Given the description of an element on the screen output the (x, y) to click on. 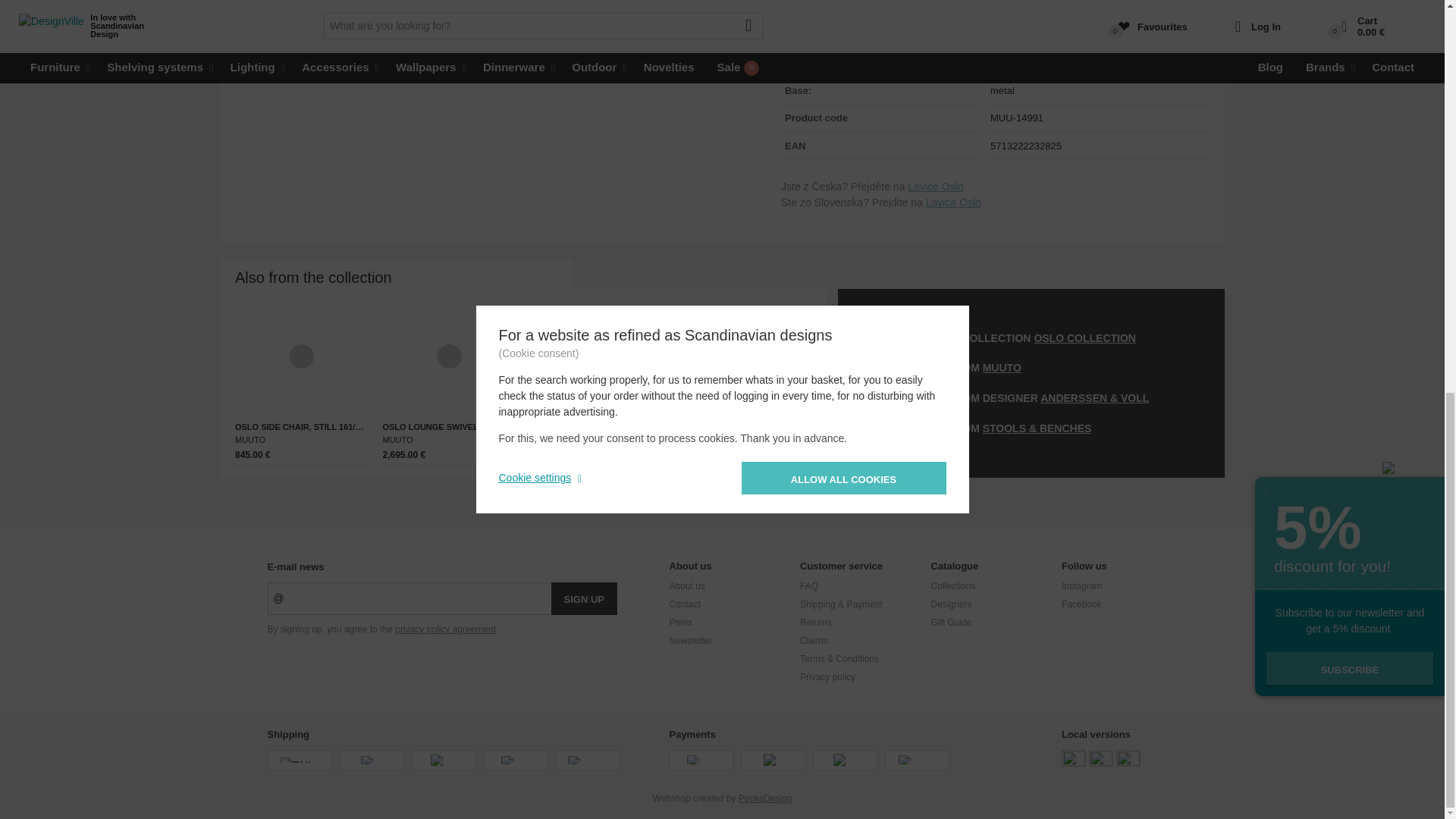
DesignVille.sk (1101, 758)
DesignVille.eu (1128, 758)
DesignVille.cz (1073, 758)
